Given the description of an element on the screen output the (x, y) to click on. 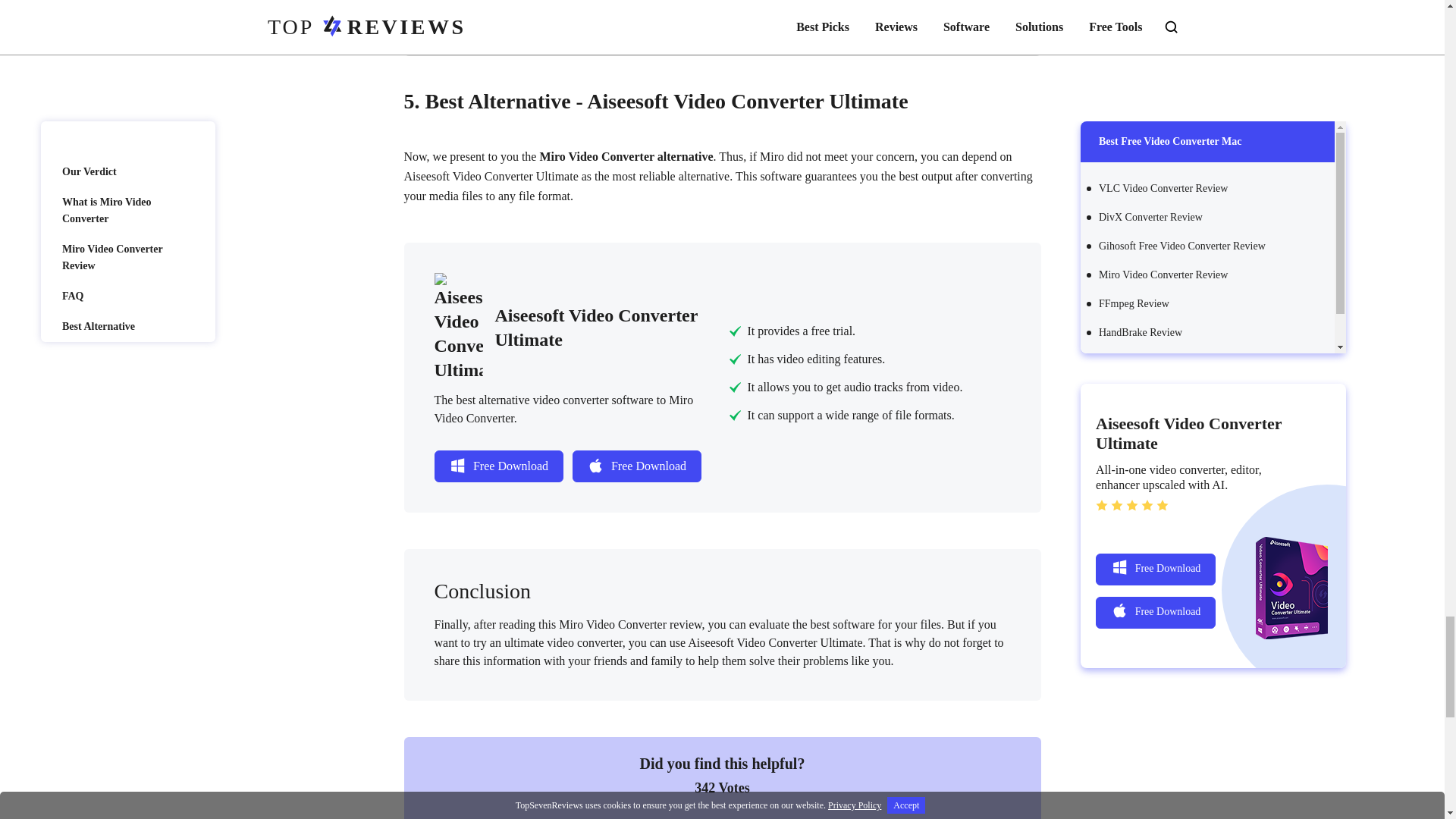
Free Download (636, 466)
Free Download (497, 466)
Aiseesoft Video Converter Ultimate (566, 327)
